Given the description of an element on the screen output the (x, y) to click on. 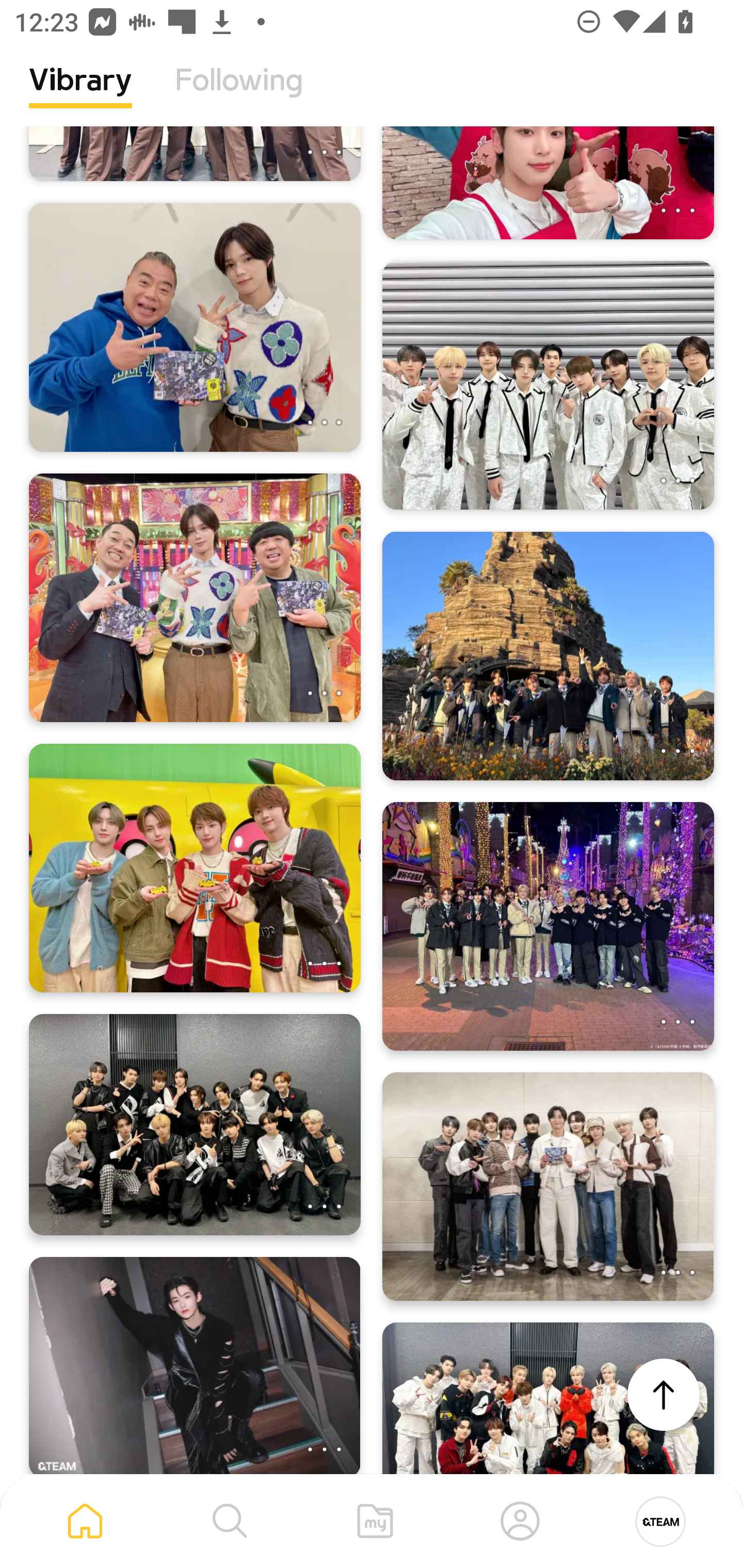
Vibrary (80, 95)
Following (239, 95)
